Given the description of an element on the screen output the (x, y) to click on. 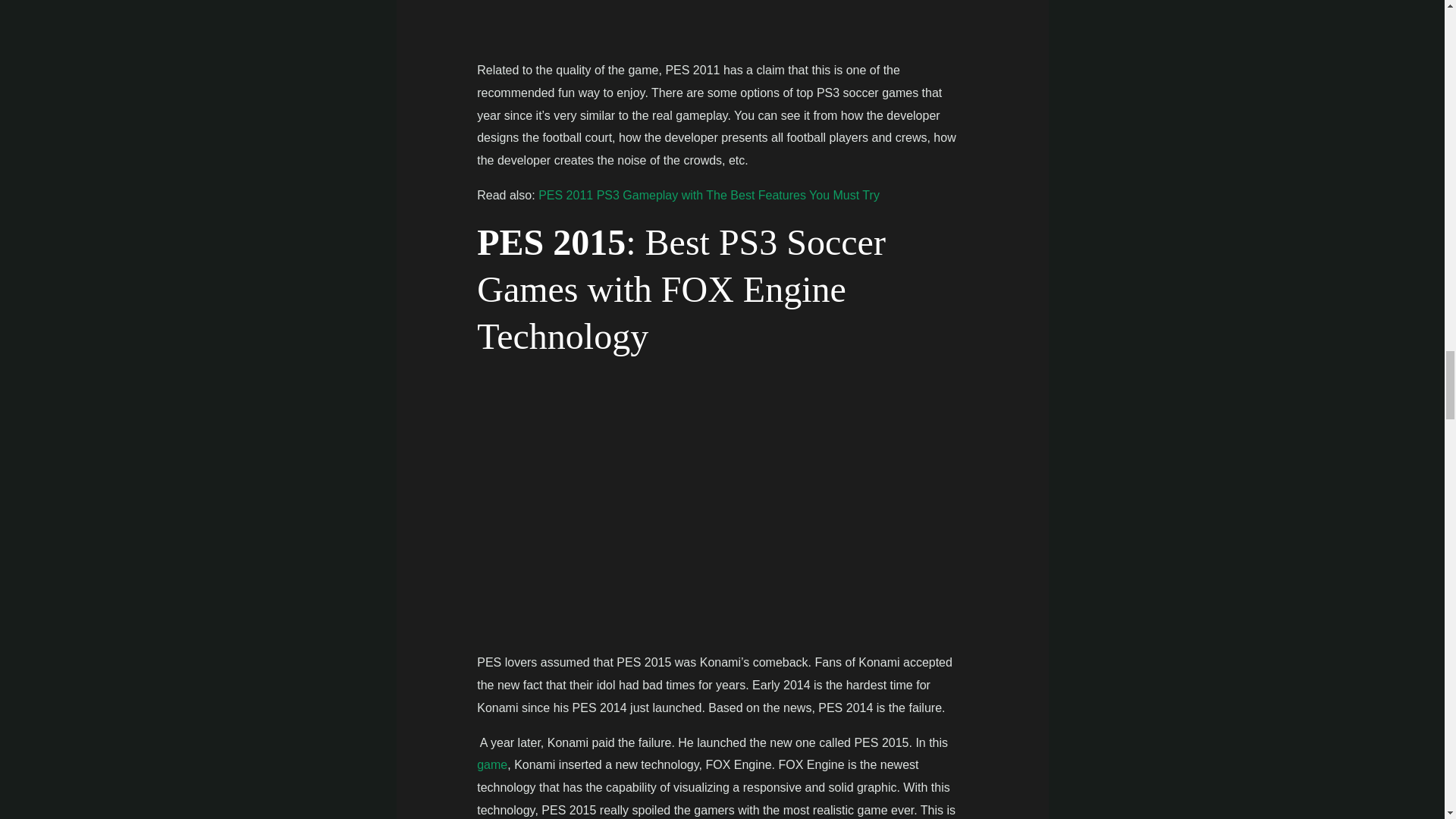
PES 2011 PS3 Gameplay with The Best Features You Must Try (708, 195)
game (491, 764)
